Given the description of an element on the screen output the (x, y) to click on. 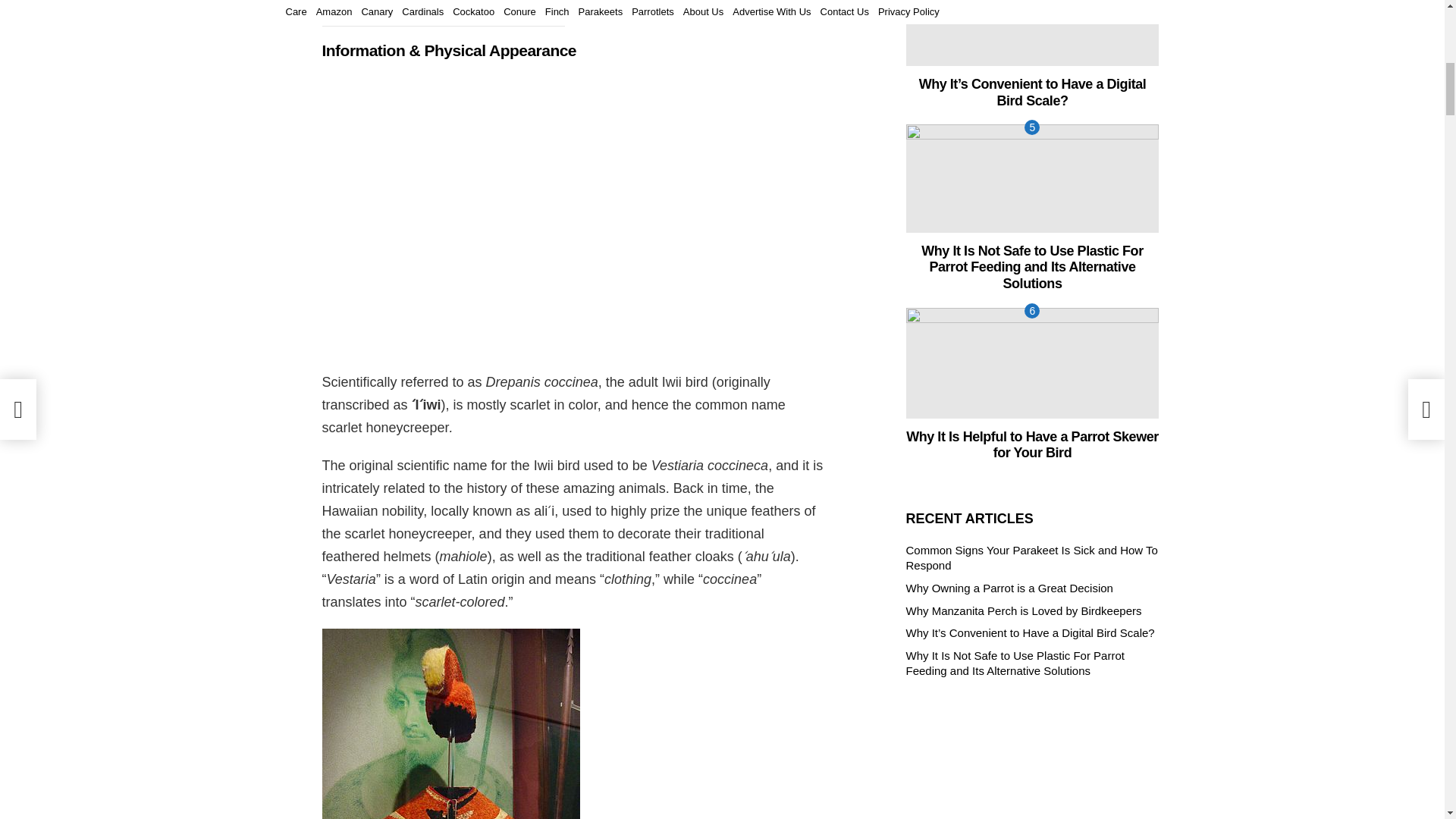
Why It Is Helpful to Have a Parrot Skewer for Your Bird (1031, 363)
